Given the description of an element on the screen output the (x, y) to click on. 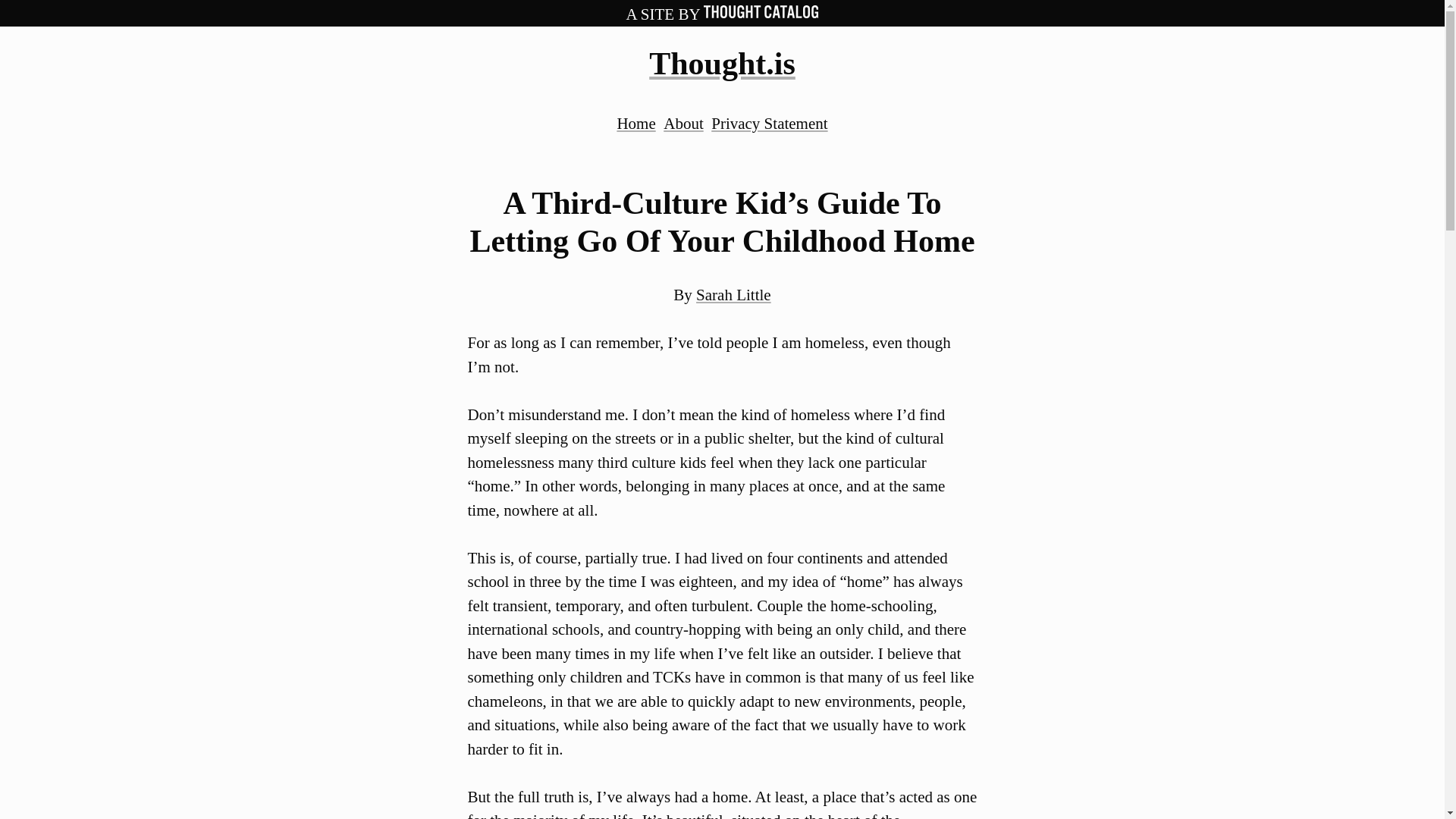
THOUGHT CATALOG (760, 11)
Posts by Sarah Little (733, 294)
Privacy Statement (769, 123)
Sarah Little (733, 294)
Thought.is (721, 63)
Home (635, 123)
About (683, 123)
THOUGHT CATALOG (760, 13)
